Given the description of an element on the screen output the (x, y) to click on. 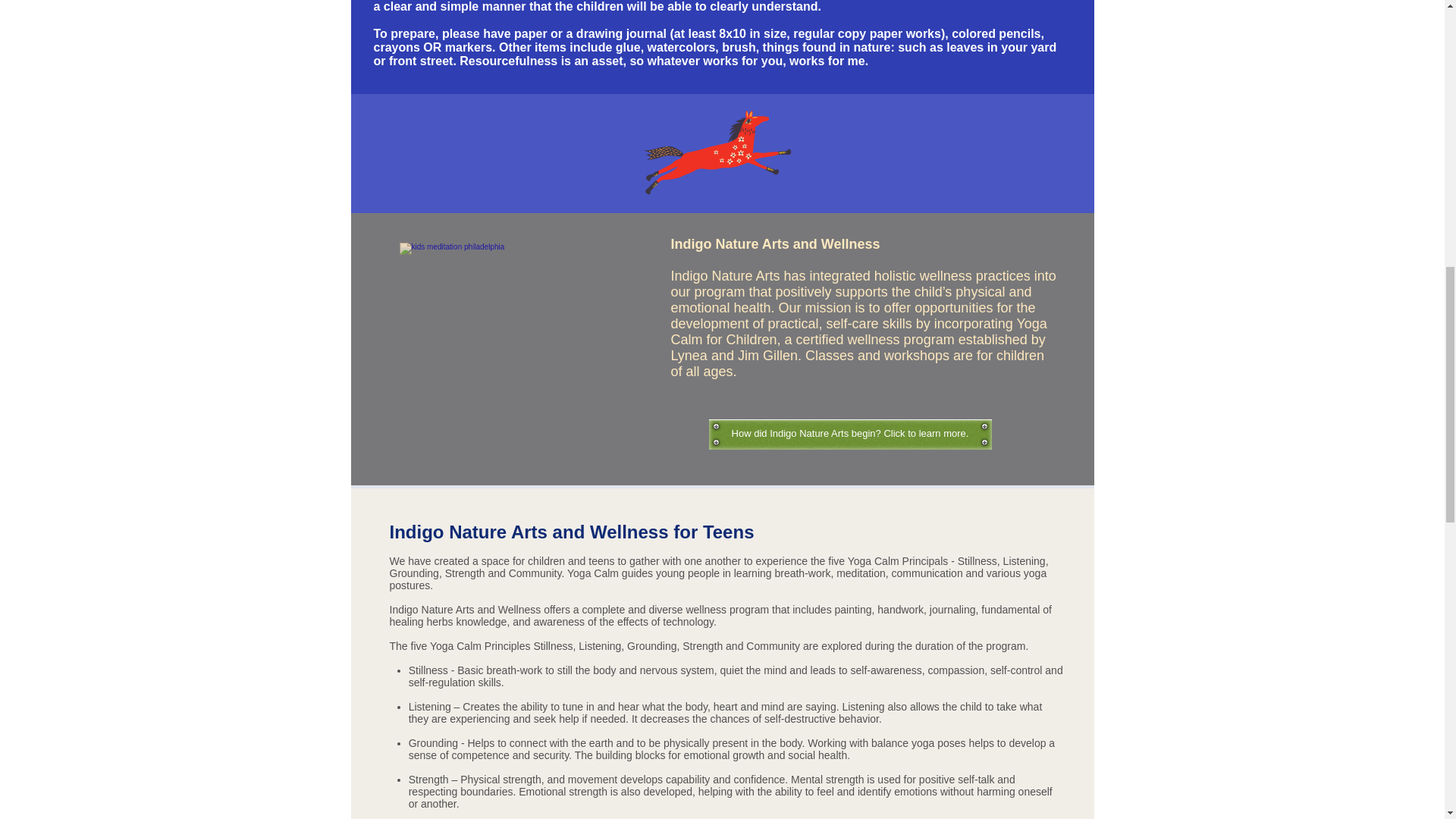
How did Indigo Nature Arts begin? Click to learn more. (849, 434)
